Given the description of an element on the screen output the (x, y) to click on. 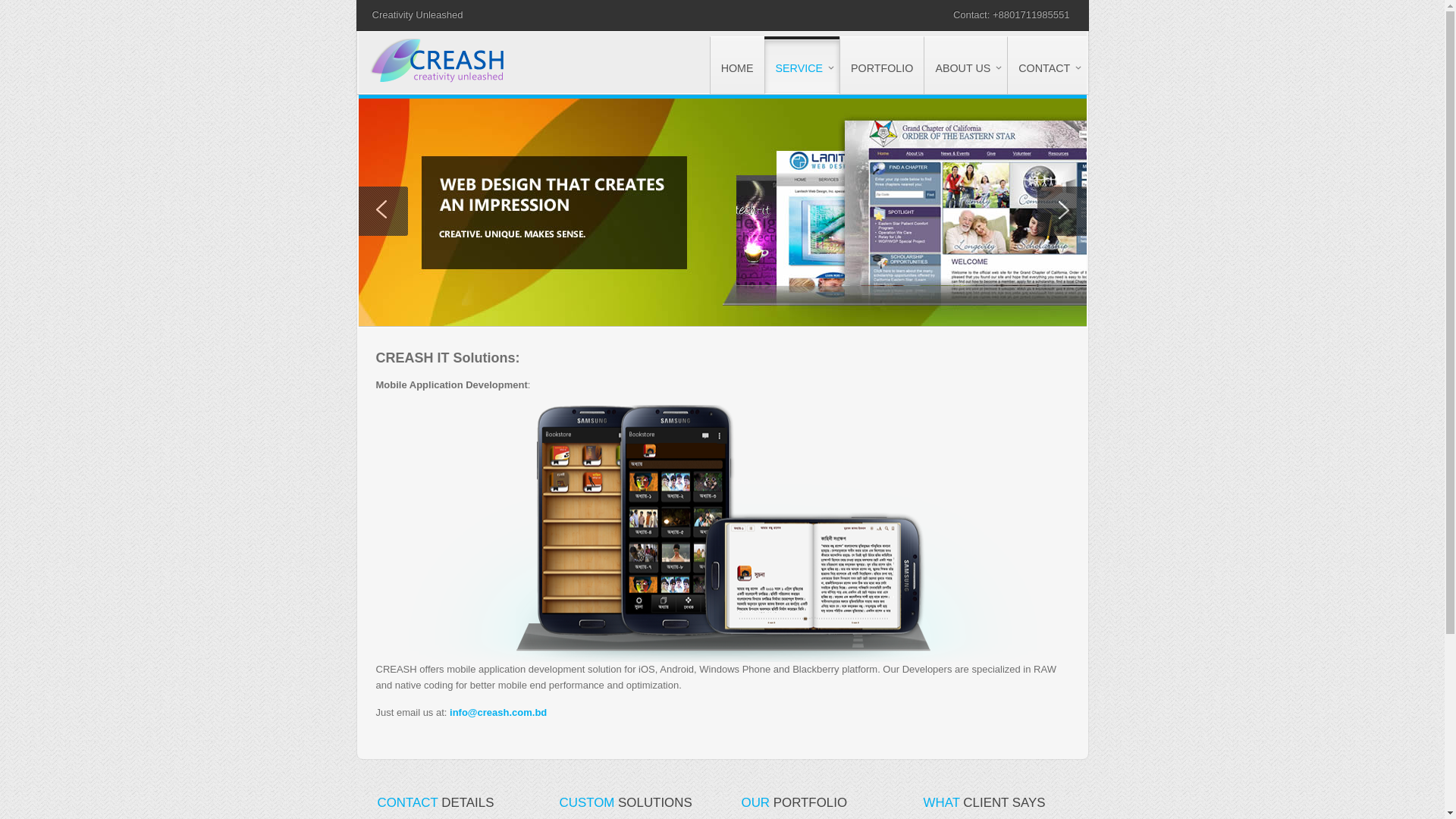
info@creash.com.bd Element type: text (497, 712)
SERVICE Element type: text (802, 66)
ABOUT US Element type: text (965, 65)
CONTACT Element type: text (1046, 65)
PORTFOLIO Element type: text (881, 65)
HOME Element type: text (736, 65)
